Given the description of an element on the screen output the (x, y) to click on. 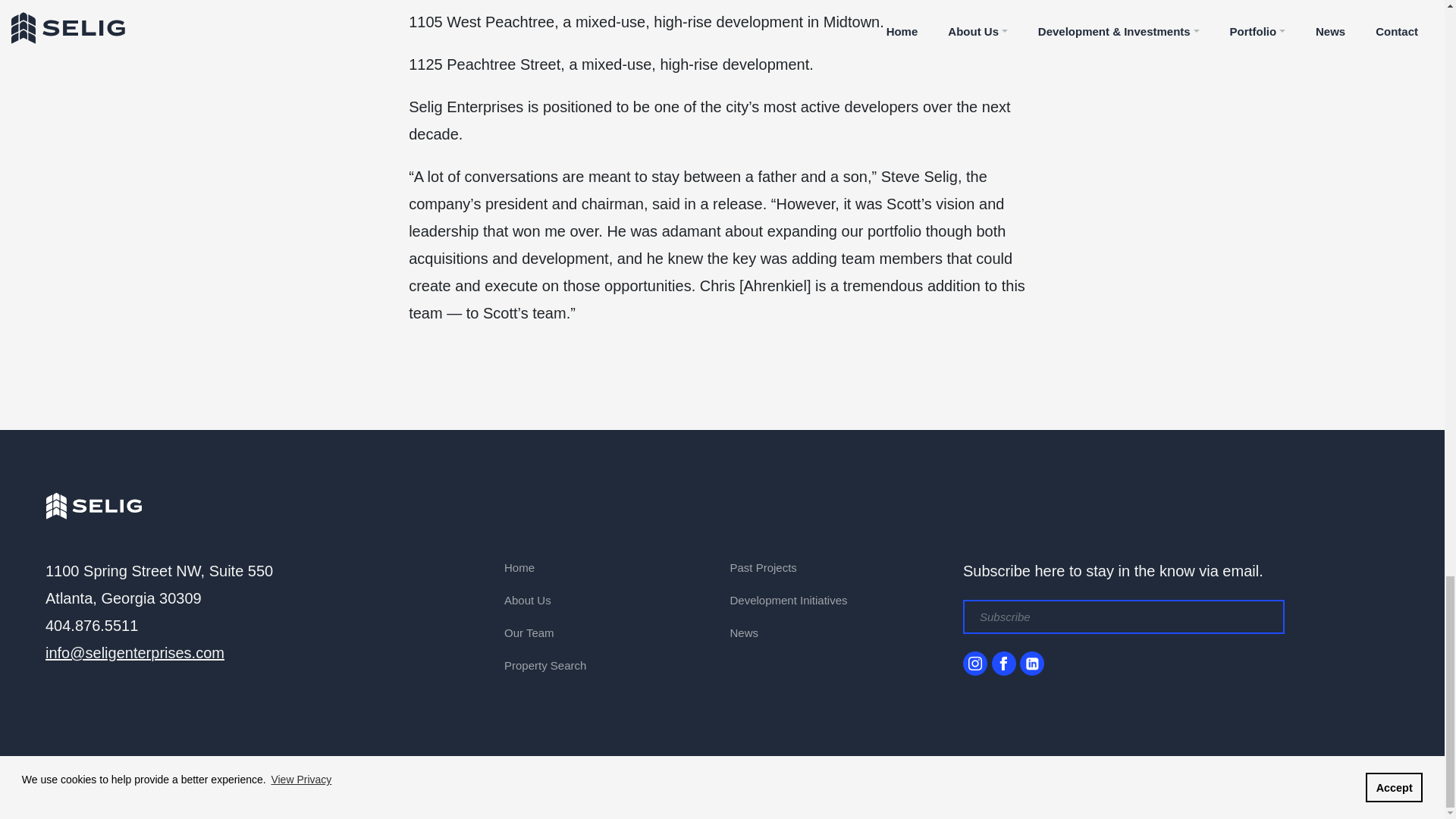
Privacy (293, 779)
Selig Enterprises (93, 504)
Past Projects (762, 567)
Our Team (528, 632)
About Us (527, 599)
Property Search (544, 665)
Development Initiatives (788, 599)
Terms (333, 779)
News (743, 632)
Home (518, 567)
